Given the description of an element on the screen output the (x, y) to click on. 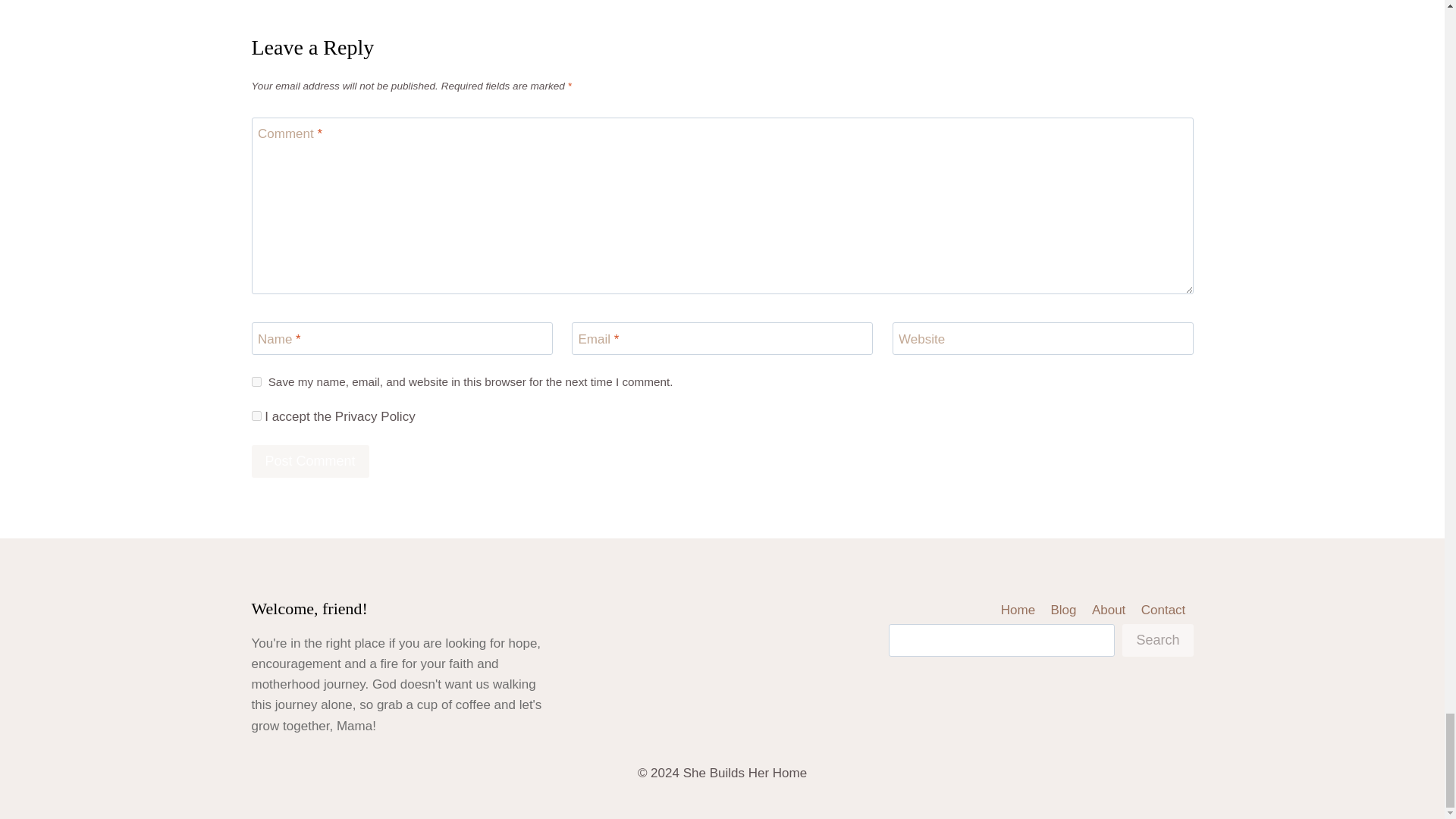
Post Comment (310, 461)
yes (256, 381)
1 (256, 415)
